Given the description of an element on the screen output the (x, y) to click on. 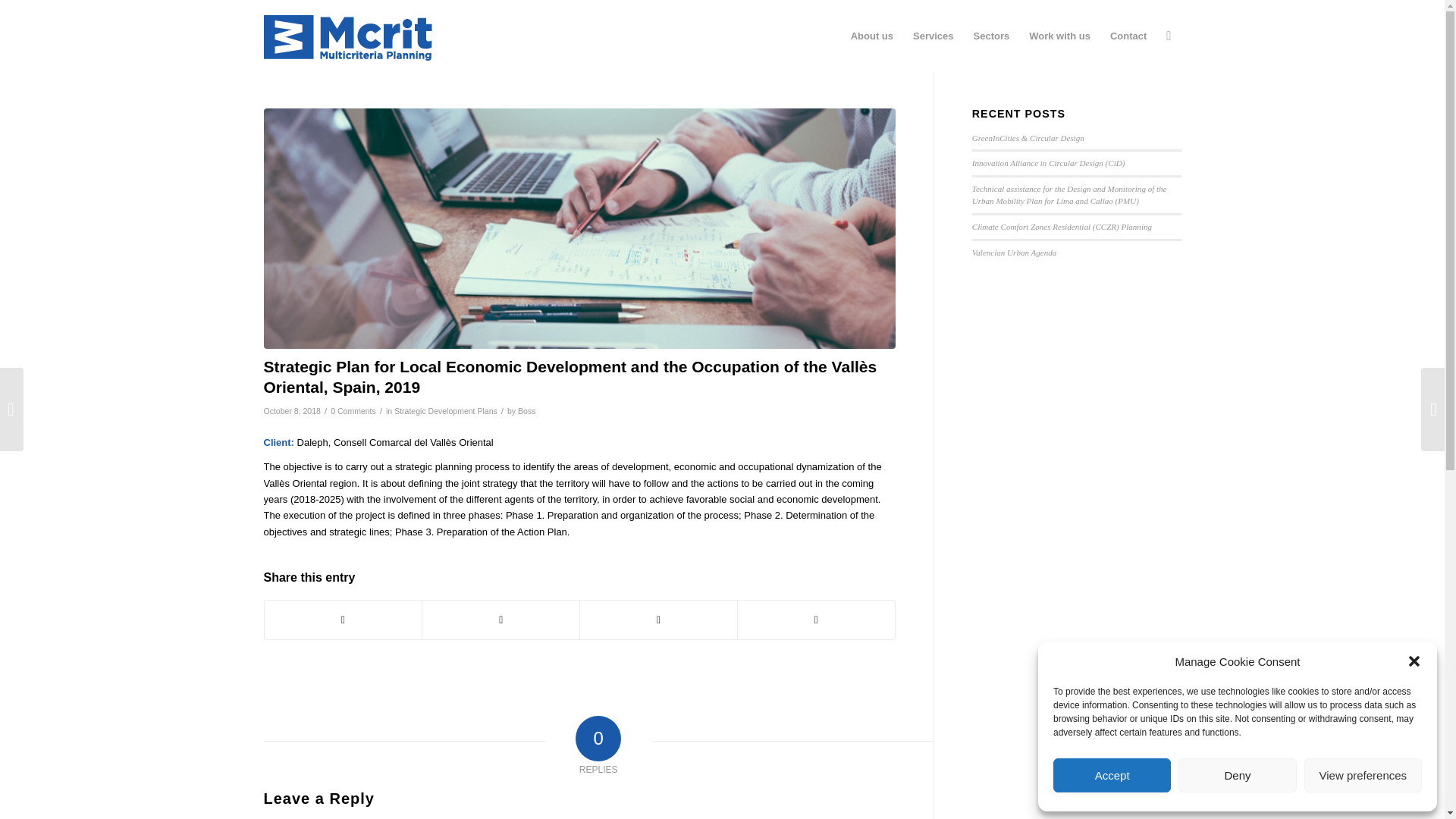
Deny (1236, 775)
Posts by Boss (526, 410)
Accept (1111, 775)
Logo Mcrit web (347, 37)
View preferences (1363, 775)
